Given the description of an element on the screen output the (x, y) to click on. 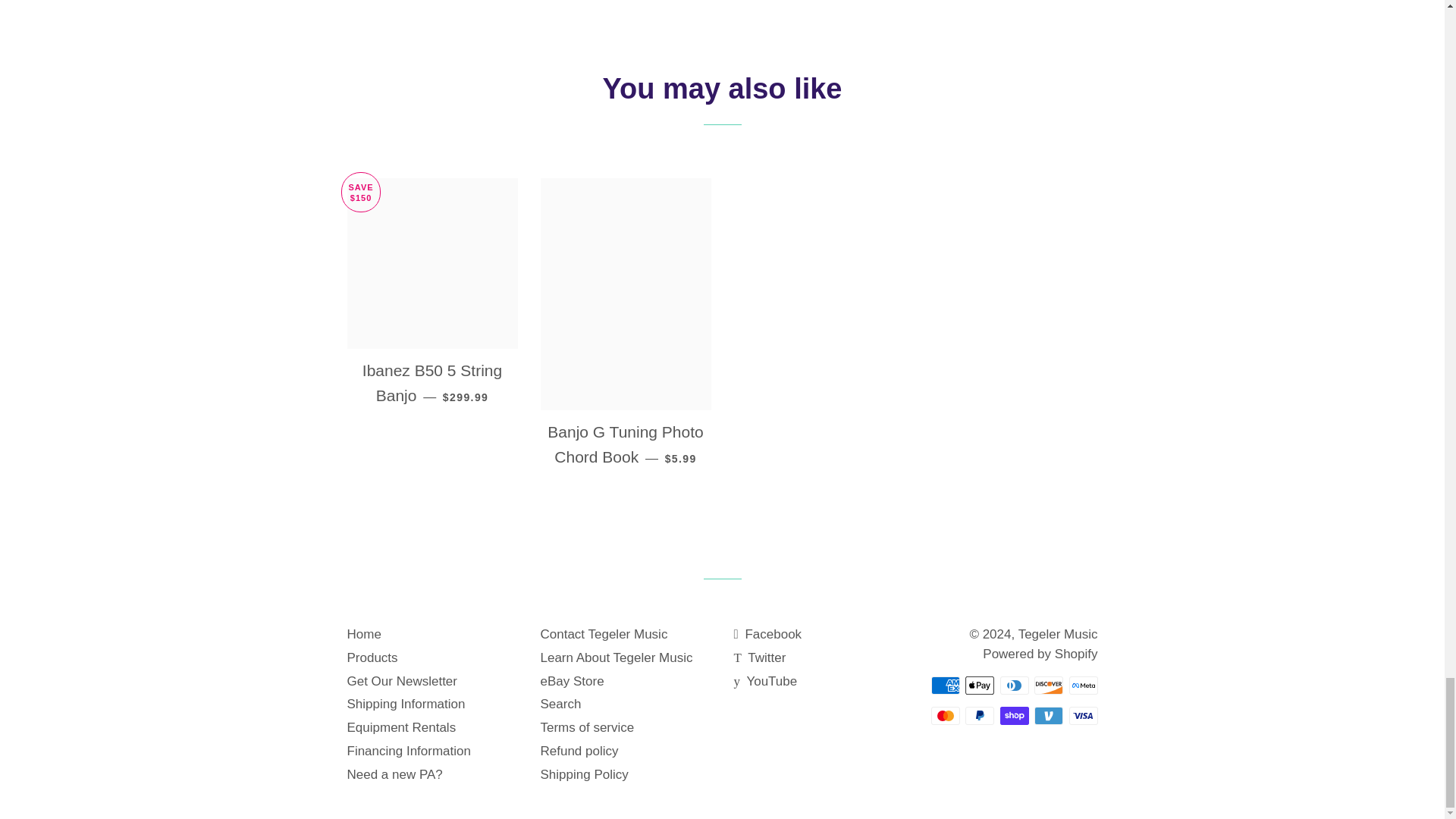
Tegeler Music on Twitter (759, 657)
Diners Club (1012, 685)
American Express (945, 685)
PayPal (979, 715)
Apple Pay (979, 685)
Shop Pay (1012, 715)
Meta Pay (1082, 685)
Visa (1082, 715)
Discover (1047, 685)
Venmo (1047, 715)
Tegeler Music on YouTube (765, 681)
Tegeler Music on Facebook (767, 634)
Mastercard (945, 715)
